Given the description of an element on the screen output the (x, y) to click on. 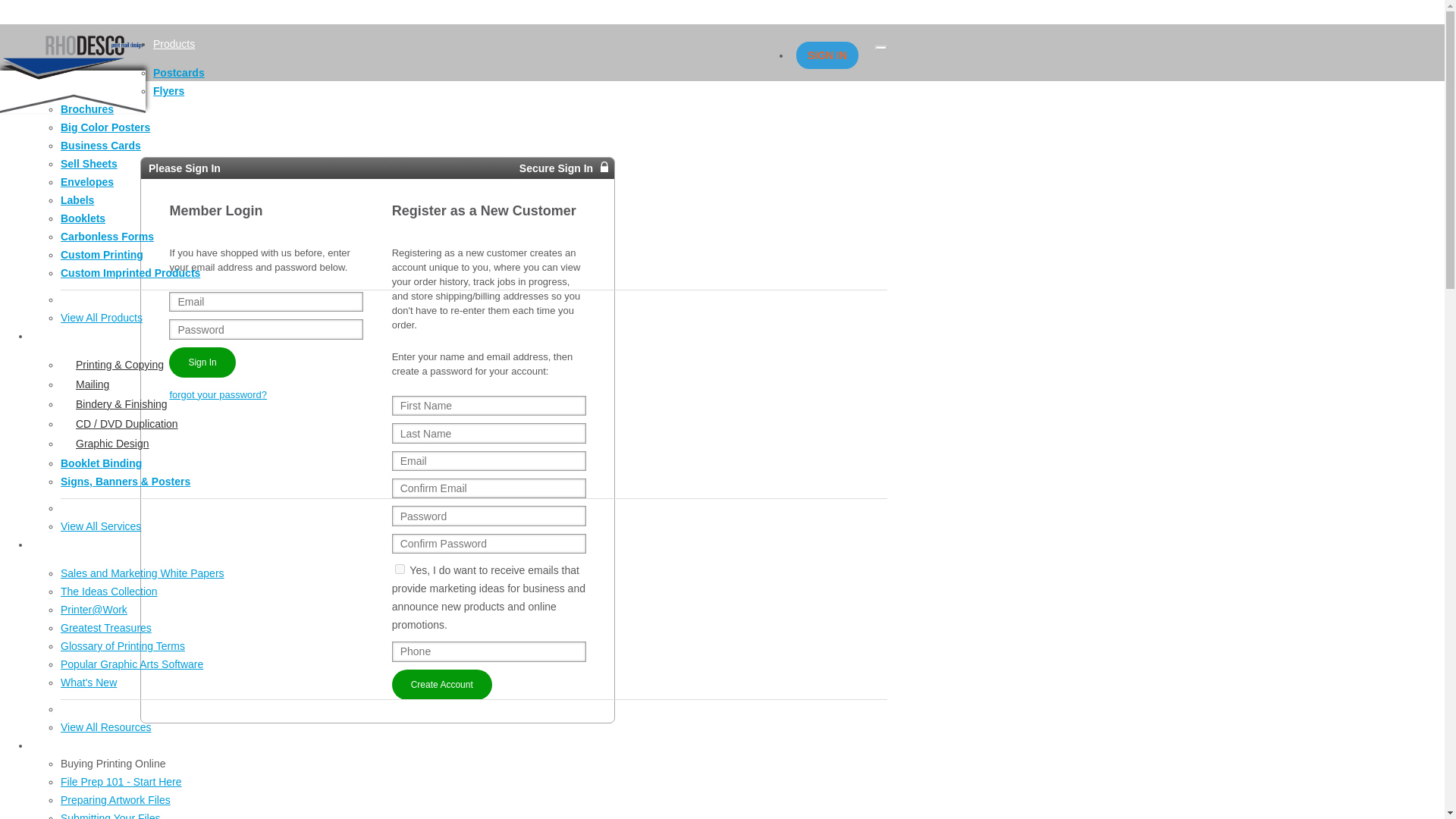
Flyers (168, 91)
Popular Graphic Arts Software (132, 664)
Create Account (441, 684)
Custom Imprinted Products (130, 272)
1 (399, 569)
Labels (77, 200)
View All Resources (106, 727)
Postcards (178, 72)
Booklets (82, 218)
Products (173, 43)
Graphic Design (473, 444)
Envelopes (87, 182)
Glossary of Printing Terms (122, 645)
Toggle navigation (880, 47)
Services (50, 336)
